Given the description of an element on the screen output the (x, y) to click on. 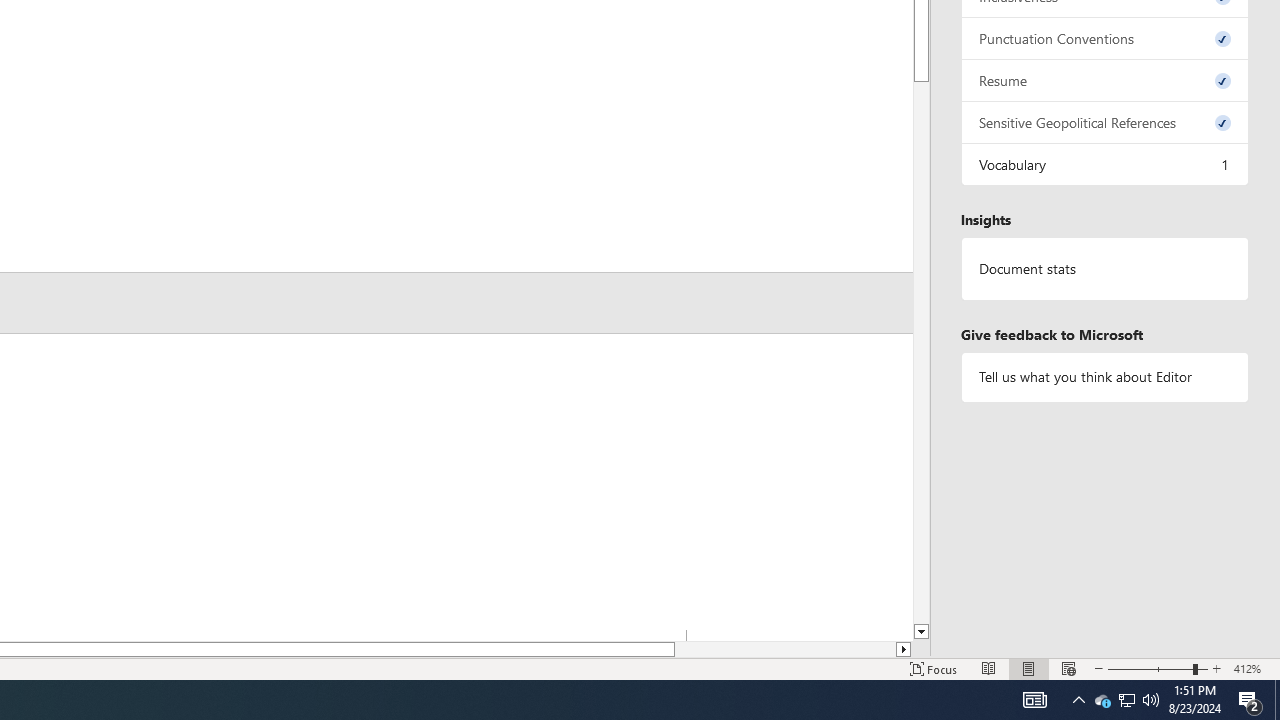
Vocabulary, 1 issue. Press space or enter to review items. (1105, 164)
Document statistics (1105, 269)
Tell us what you think about Editor (1105, 376)
Column right (904, 649)
Resume, 0 issues. Press space or enter to review items. (1105, 79)
Page right (785, 649)
